Given the description of an element on the screen output the (x, y) to click on. 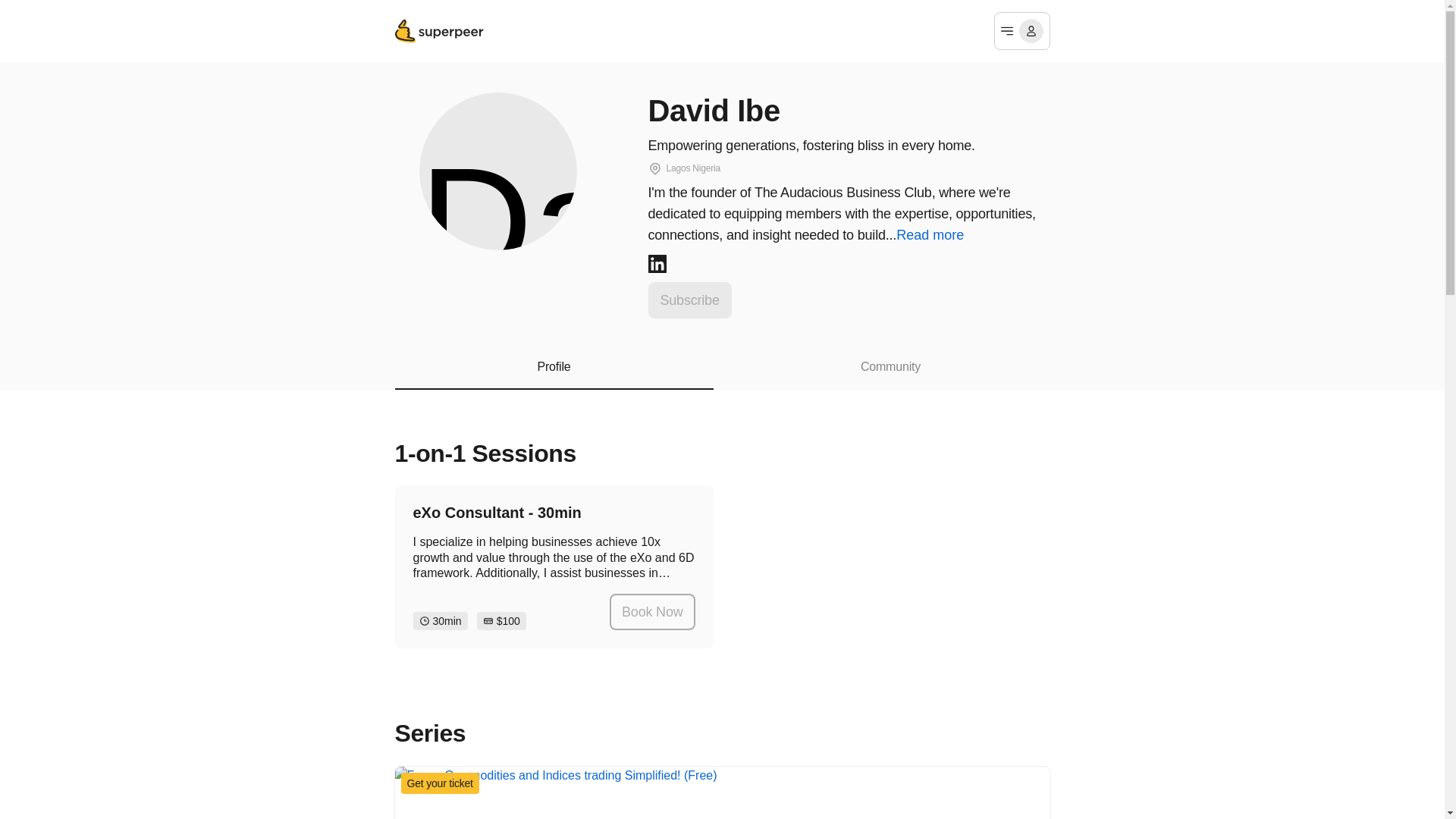
Get your ticket (721, 792)
Read more (932, 235)
Book Now (652, 611)
Profile (553, 373)
Linkedin (656, 263)
David Ibe - Community (889, 373)
Superpeer Logo (439, 30)
eXo Consultant (553, 566)
David Ibe - Profile (553, 373)
Subscribe (688, 299)
Community (889, 373)
